Given the description of an element on the screen output the (x, y) to click on. 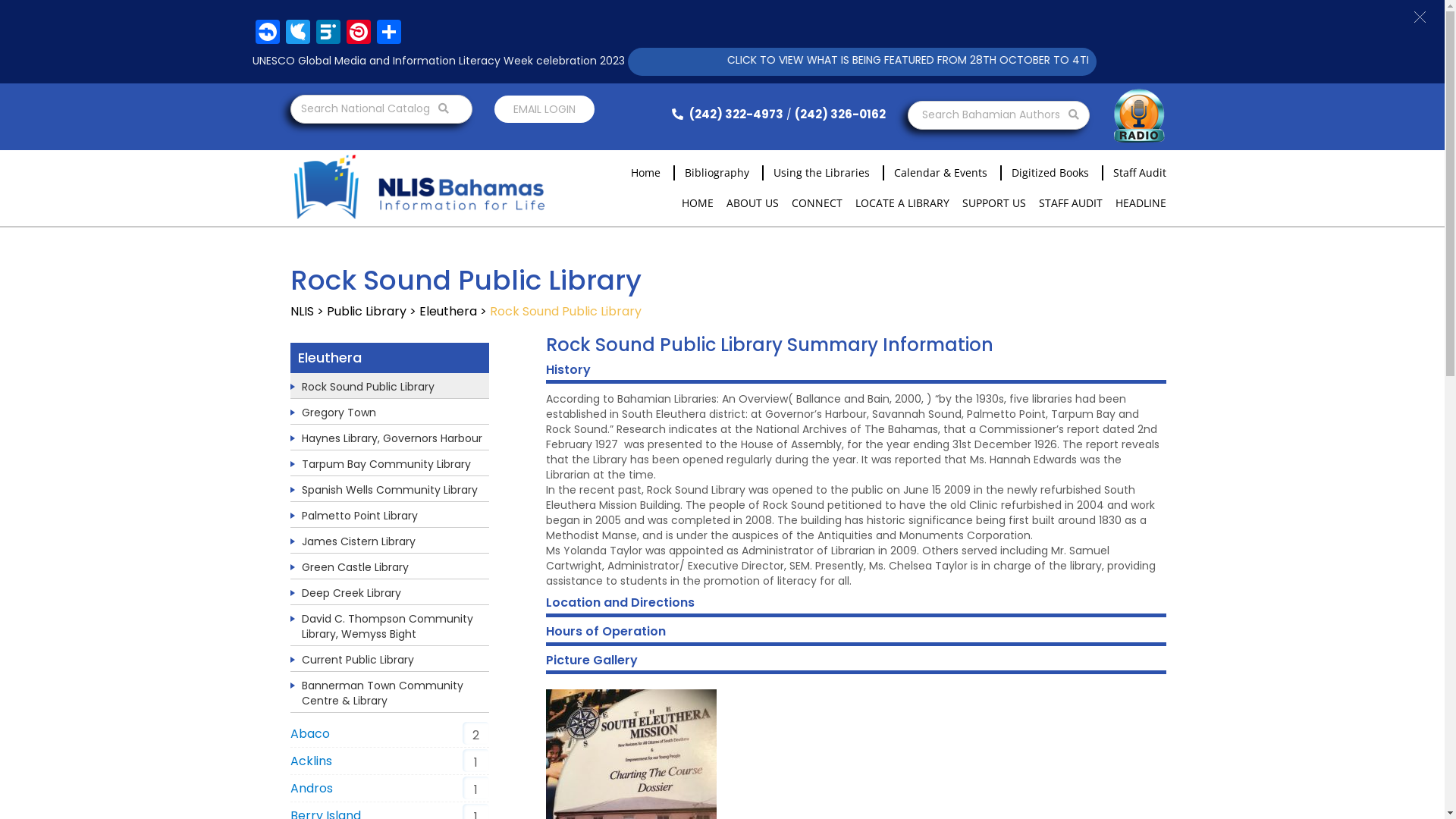
HOME Element type: text (696, 202)
(242) 322-4973 Element type: text (724, 114)
(242) 326-0162 Element type: text (839, 114)
Digitized Books Element type: text (1044, 172)
Spanish Wells Community Library Element type: text (389, 489)
Calendar & Events Element type: text (935, 172)
STAFF AUDIT Element type: text (1070, 202)
Facebook Element type: text (266, 33)
Bannerman Town Community Centre & Library Element type: text (382, 692)
Acklins Element type: text (310, 760)
LOCATE A LIBRARY Element type: text (902, 202)
Palmetto Point Library Element type: text (359, 515)
Gregory Town Element type: text (338, 412)
EMAIL LOGIN Element type: text (544, 108)
Pinterest Element type: text (357, 33)
Eleuthera Element type: text (447, 311)
James Cistern Library Element type: text (358, 541)
Staff Audit Element type: text (1133, 172)
Tarpum Bay Community Library Element type: text (385, 463)
Public Library Element type: text (365, 311)
NLIS Element type: text (301, 311)
ABOUT US Element type: text (752, 202)
Search National Catalog Element type: text (380, 108)
Haynes Library, Governors Harbour Element type: text (391, 437)
SUPPORT US Element type: text (993, 202)
HEADLINE Element type: text (1139, 202)
Green Castle Library Element type: text (354, 566)
Share Element type: text (388, 33)
Search Bahamian Authors Element type: text (997, 114)
Andros Element type: text (310, 788)
Home Element type: text (639, 172)
Abaco Element type: text (309, 733)
David C. Thompson Community Library, Wemyss Bight Element type: text (387, 626)
Current Public Library Element type: text (357, 659)
CONNECT Element type: text (816, 202)
Deep Creek Library Element type: text (351, 592)
LinkedIn Element type: text (327, 33)
Rock Sound Public Library Element type: text (367, 386)
Twitter Element type: text (297, 33)
Bibliography Element type: text (711, 172)
Using the Libraries Element type: text (815, 172)
